Given the description of an element on the screen output the (x, y) to click on. 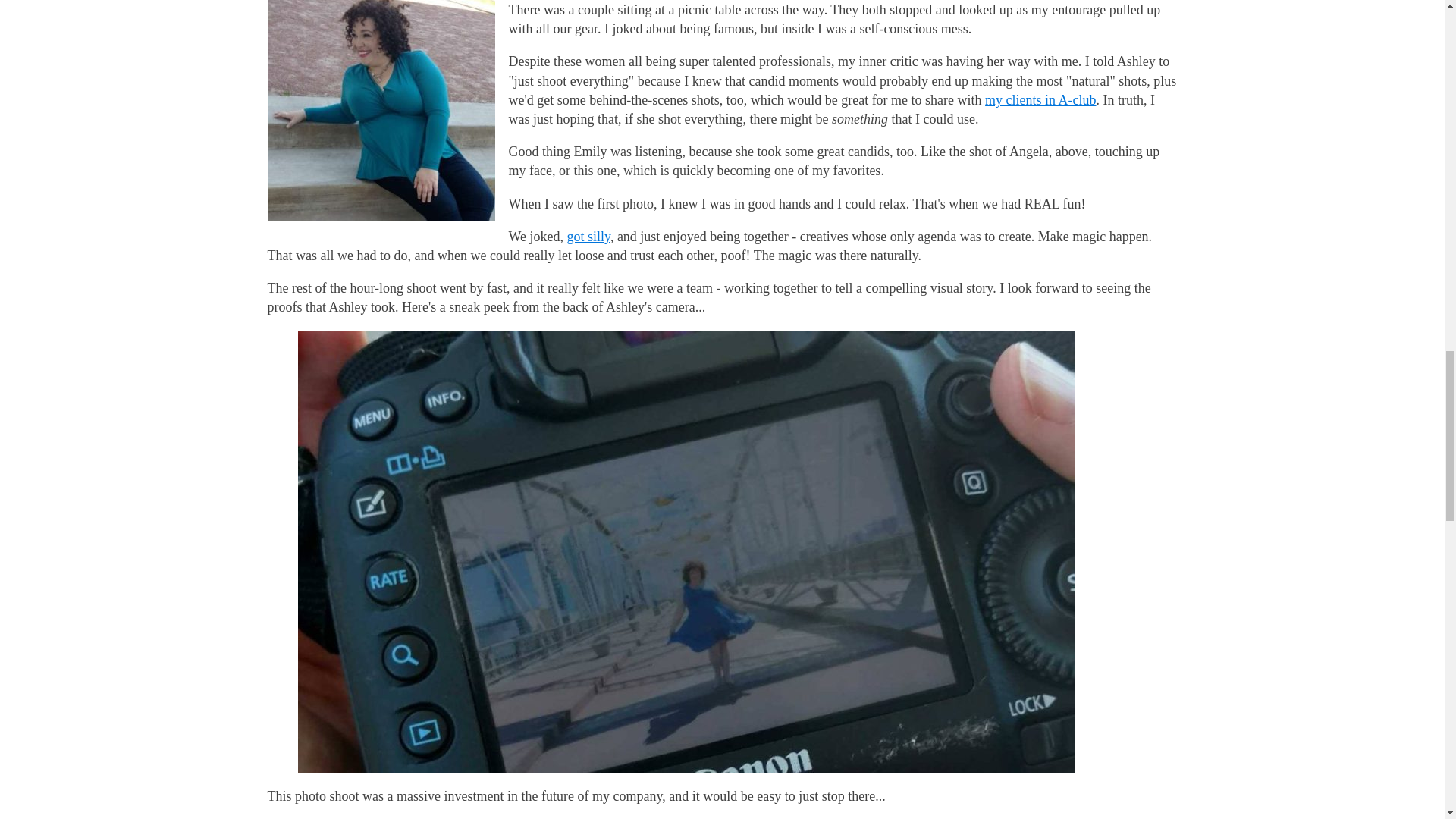
got silly (588, 236)
my clients in A-club (1040, 99)
